Given the description of an element on the screen output the (x, y) to click on. 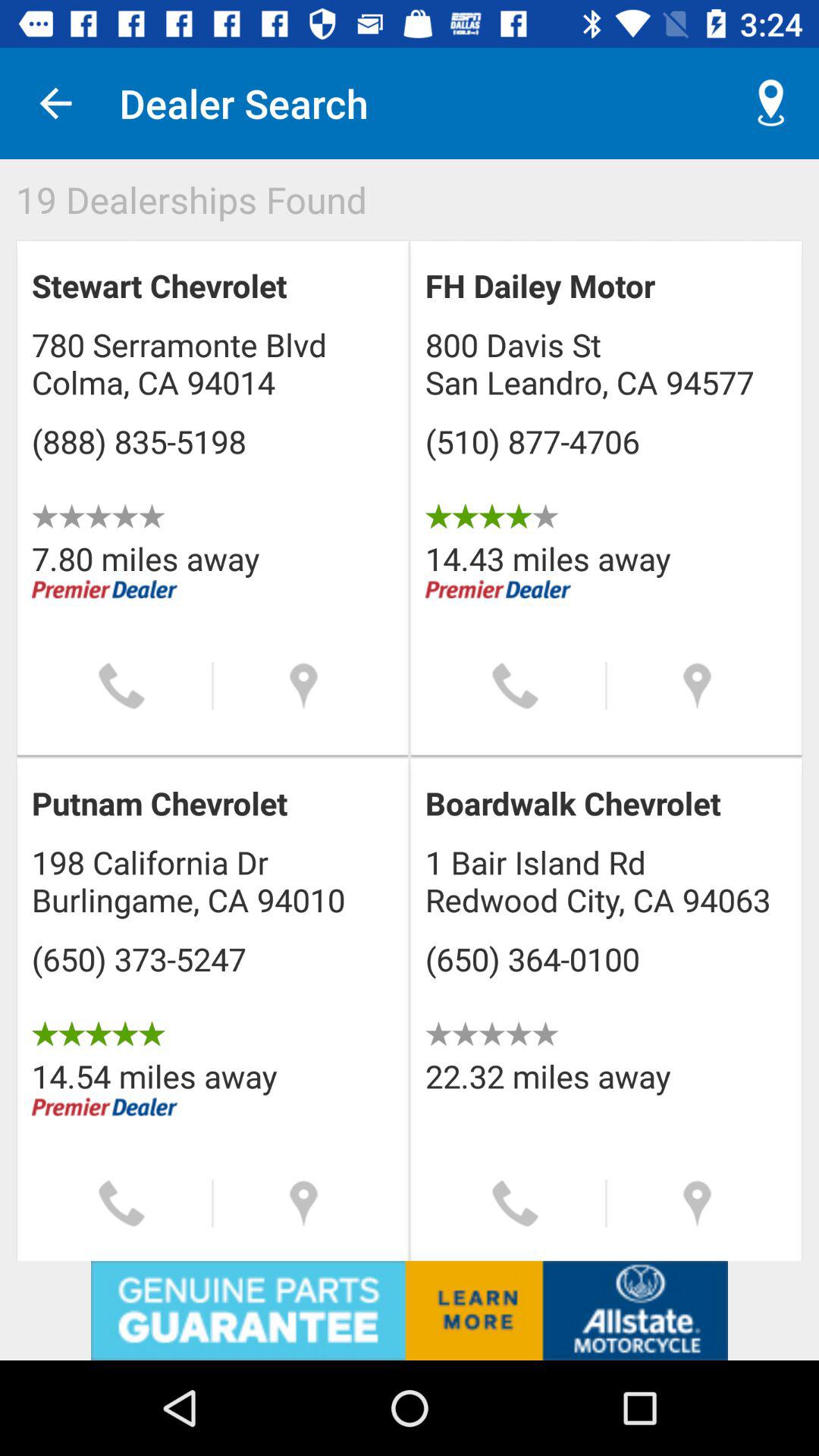
find the location (697, 685)
